Given the description of an element on the screen output the (x, y) to click on. 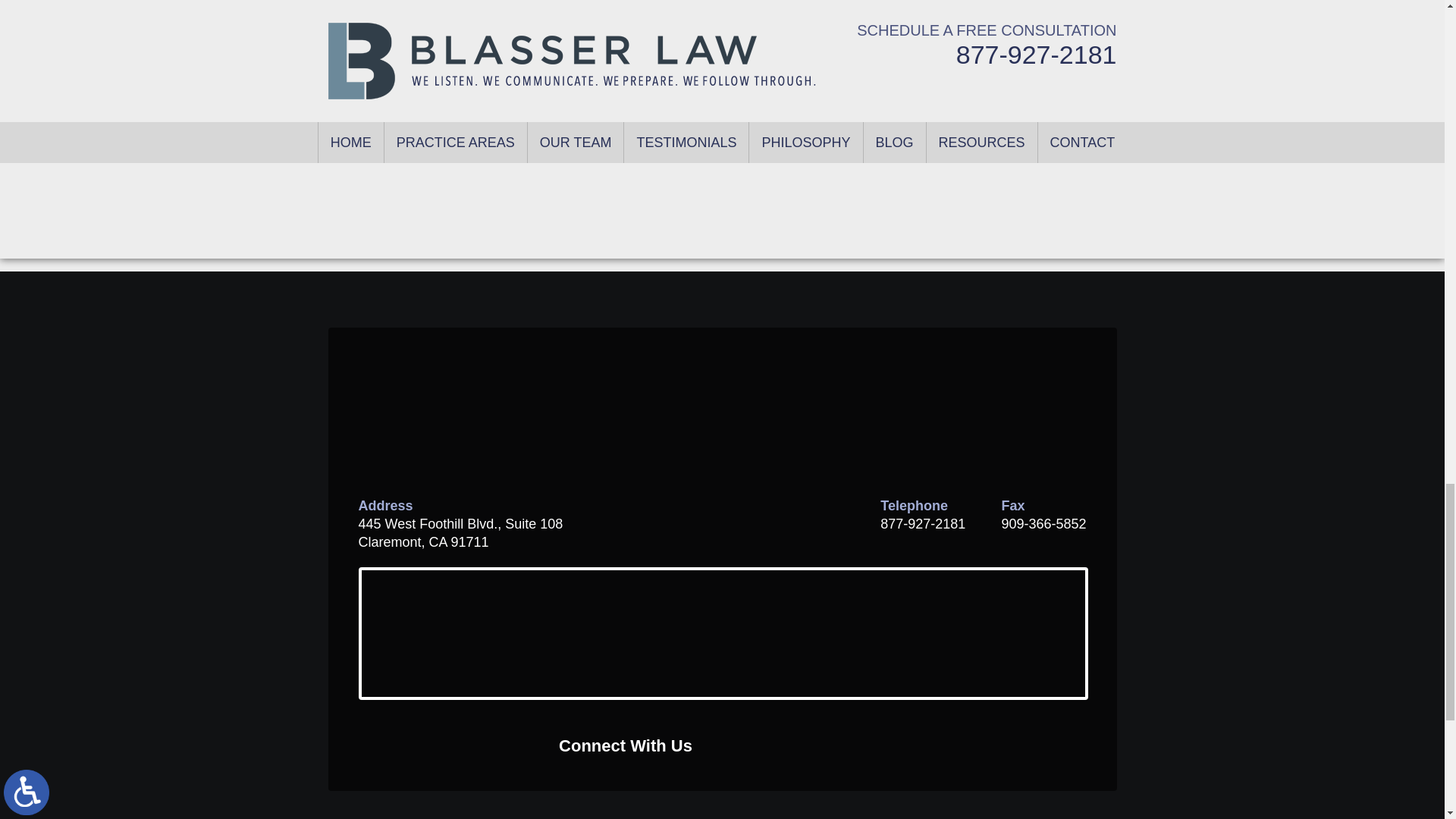
Estate Planning Attorney (1000, 33)
Personal Injury Attorney (1000, 134)
